Given the description of an element on the screen output the (x, y) to click on. 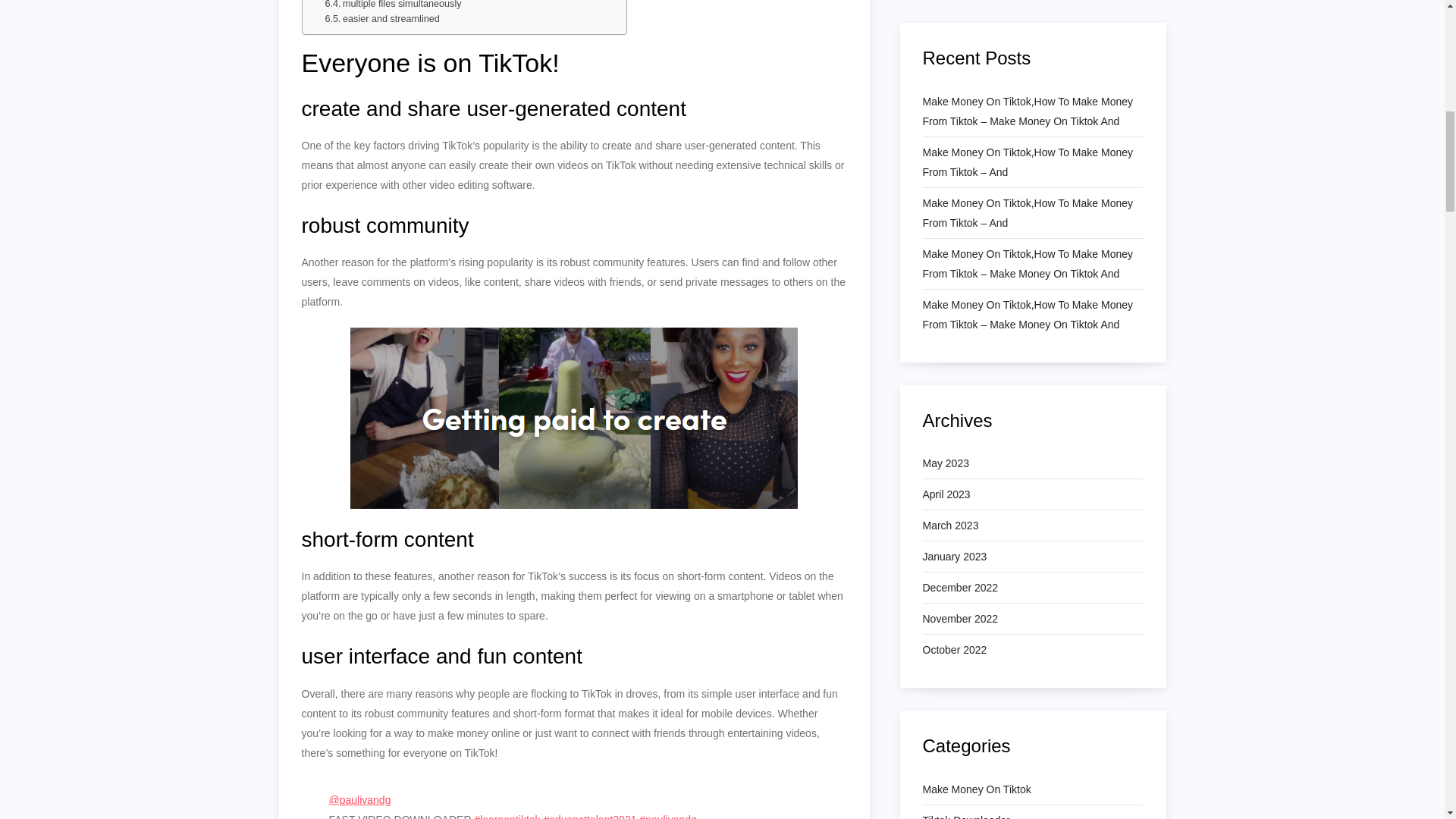
multiple files simultaneously (401, 4)
easier and streamlined (390, 18)
